Given the description of an element on the screen output the (x, y) to click on. 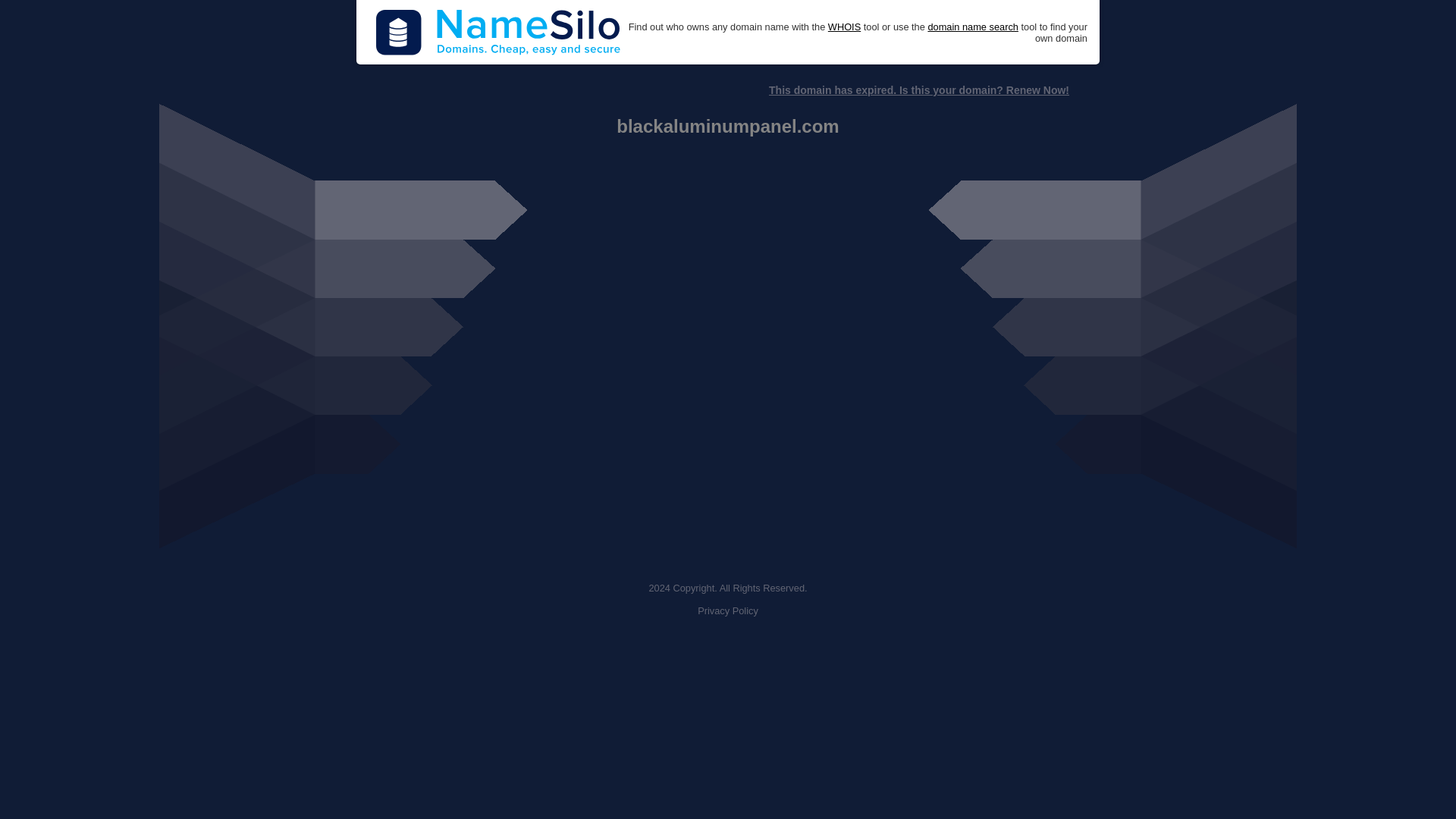
domain name search (972, 26)
Privacy Policy (727, 610)
WHOIS (844, 26)
This domain has expired. Is this your domain? Renew Now! (918, 90)
